Given the description of an element on the screen output the (x, y) to click on. 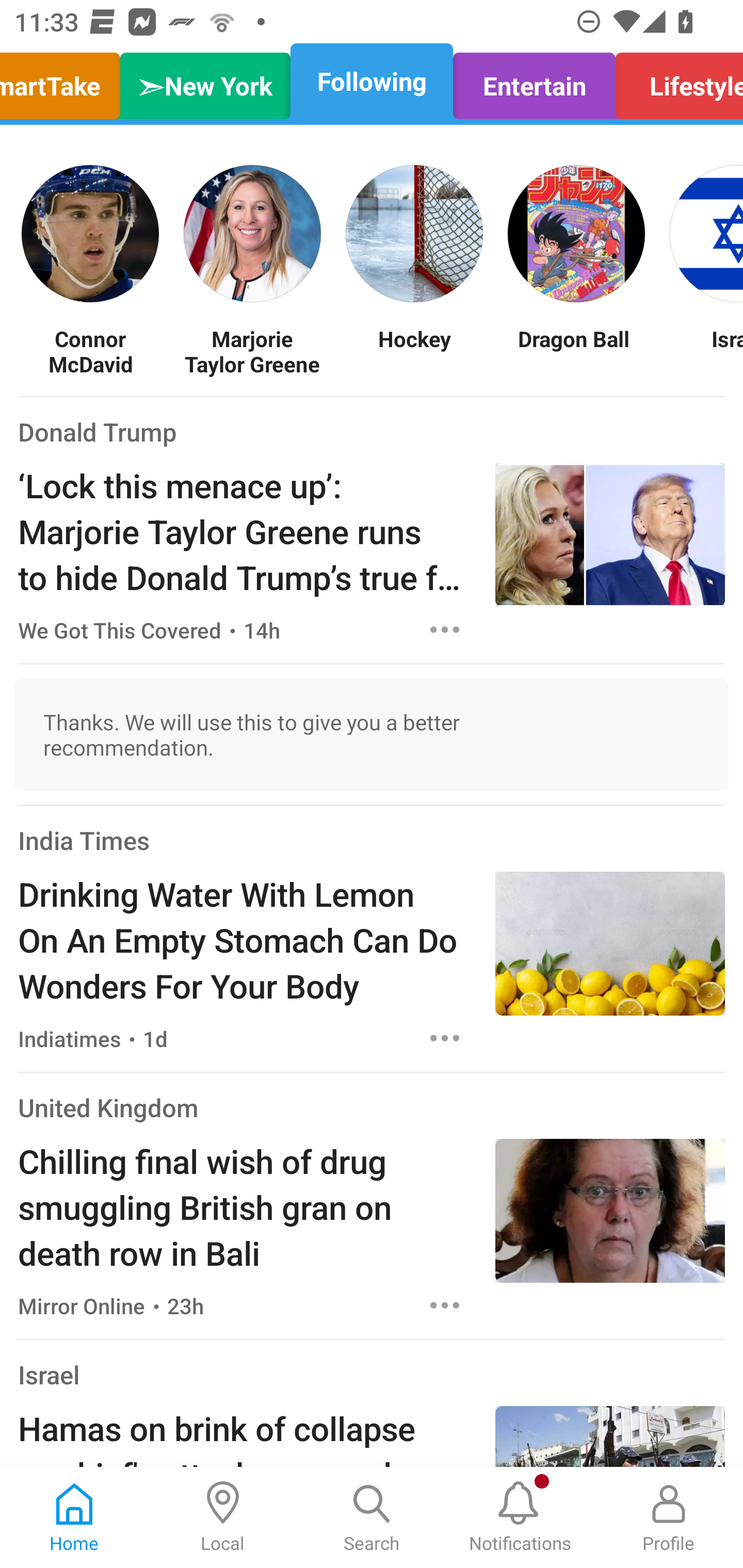
➣New York (205, 81)
Following (371, 81)
Entertain (534, 81)
Connor McDavid (89, 350)
Marjorie Taylor Greene (251, 350)
Hockey (413, 350)
Dragon Ball  (575, 350)
Donald Trump (97, 430)
Options (444, 629)
India Times (83, 840)
Options (444, 1037)
United Kingdom (107, 1106)
Options (444, 1305)
Israel (48, 1374)
Local (222, 1517)
Search (371, 1517)
Notifications, New notification Notifications (519, 1517)
Profile (668, 1517)
